Given the description of an element on the screen output the (x, y) to click on. 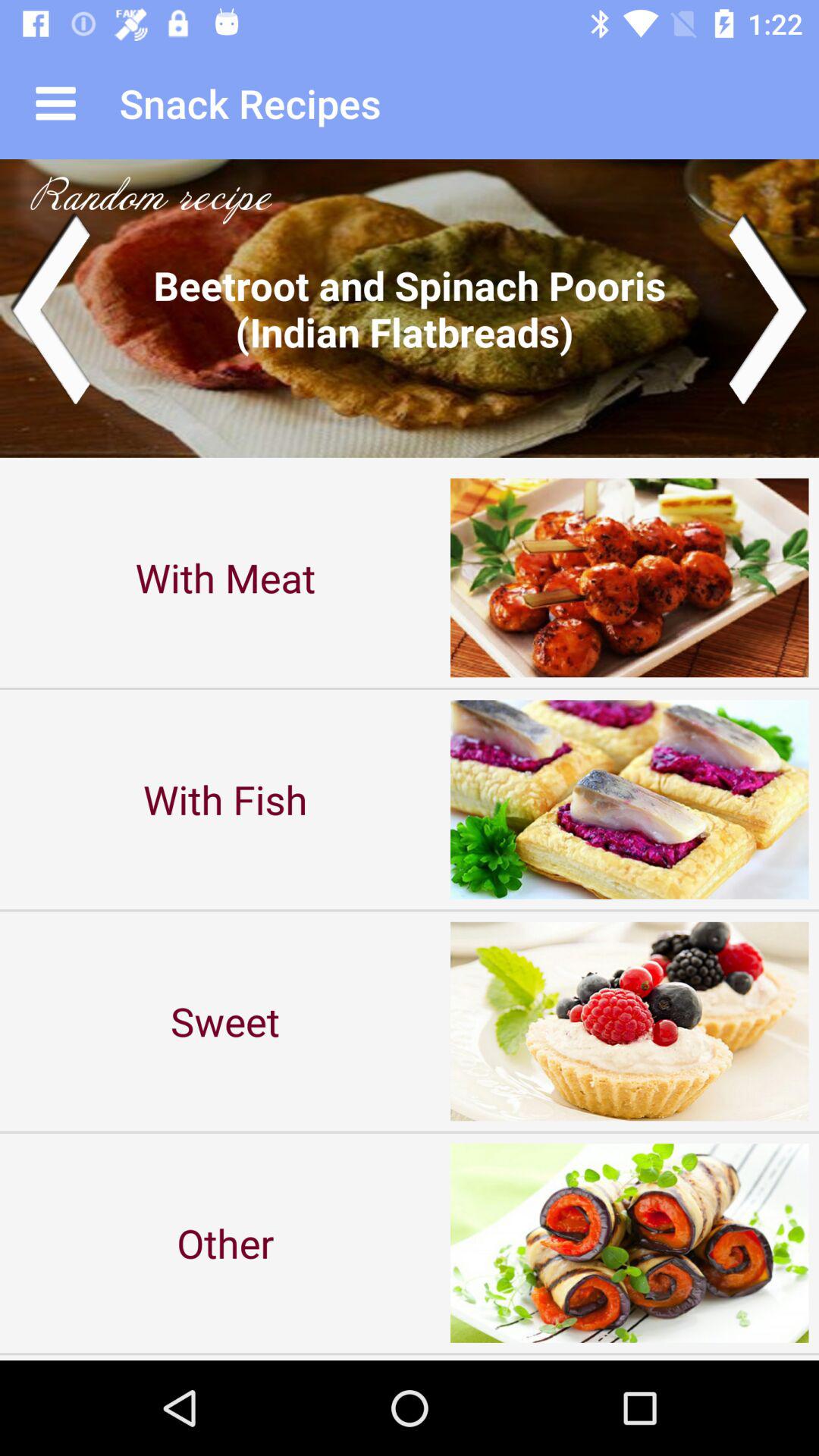
open icon above the other (225, 1020)
